Given the description of an element on the screen output the (x, y) to click on. 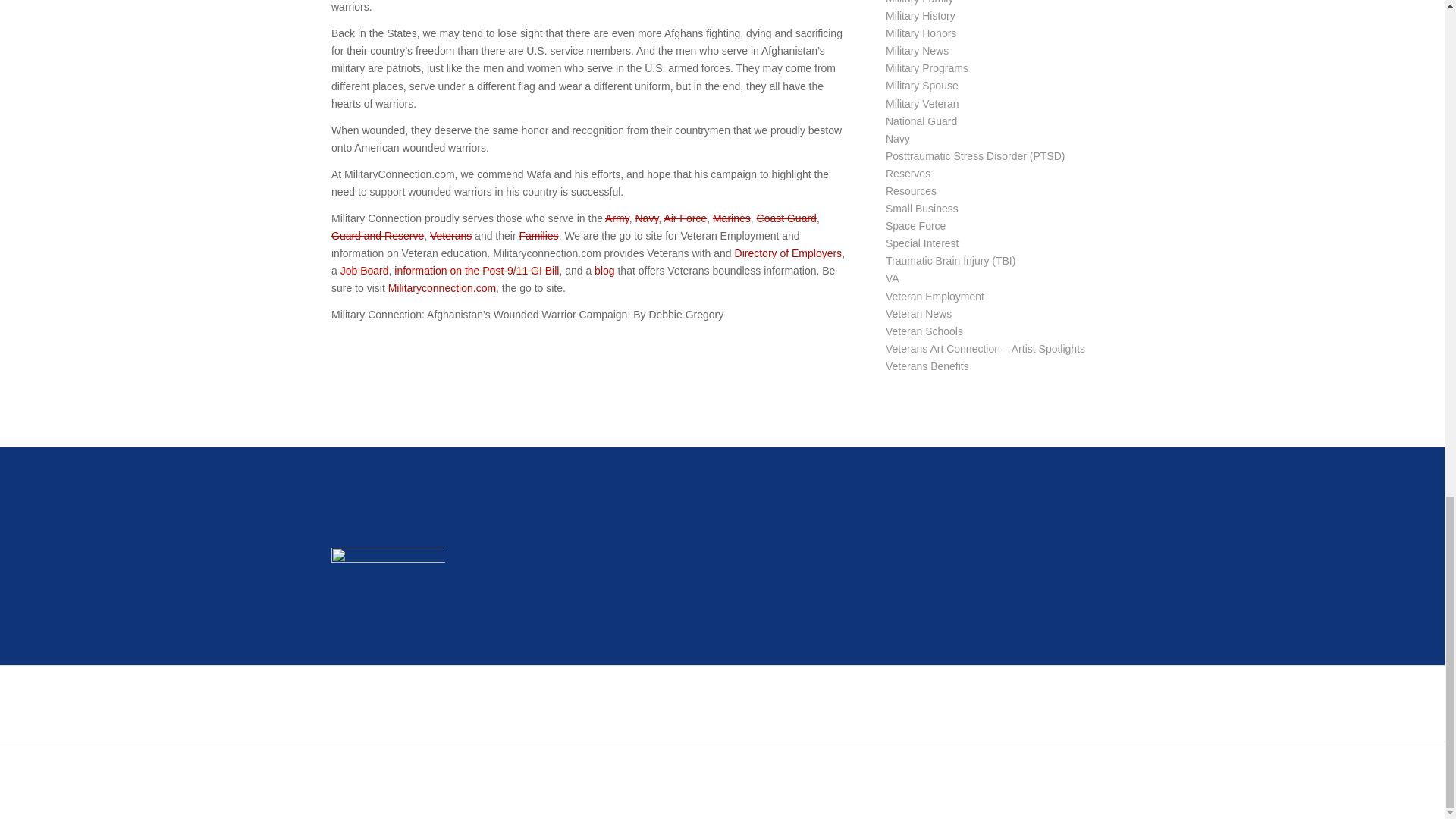
Directory of Employers (789, 253)
Guard and Reserve (377, 235)
Job Board (364, 270)
blog (604, 270)
Militaryconnection.com (442, 287)
Families (537, 235)
Coast Guard (786, 218)
Veterans (450, 235)
Navy (646, 218)
Air Force (684, 218)
Army (616, 218)
Marines (732, 218)
